Given the description of an element on the screen output the (x, y) to click on. 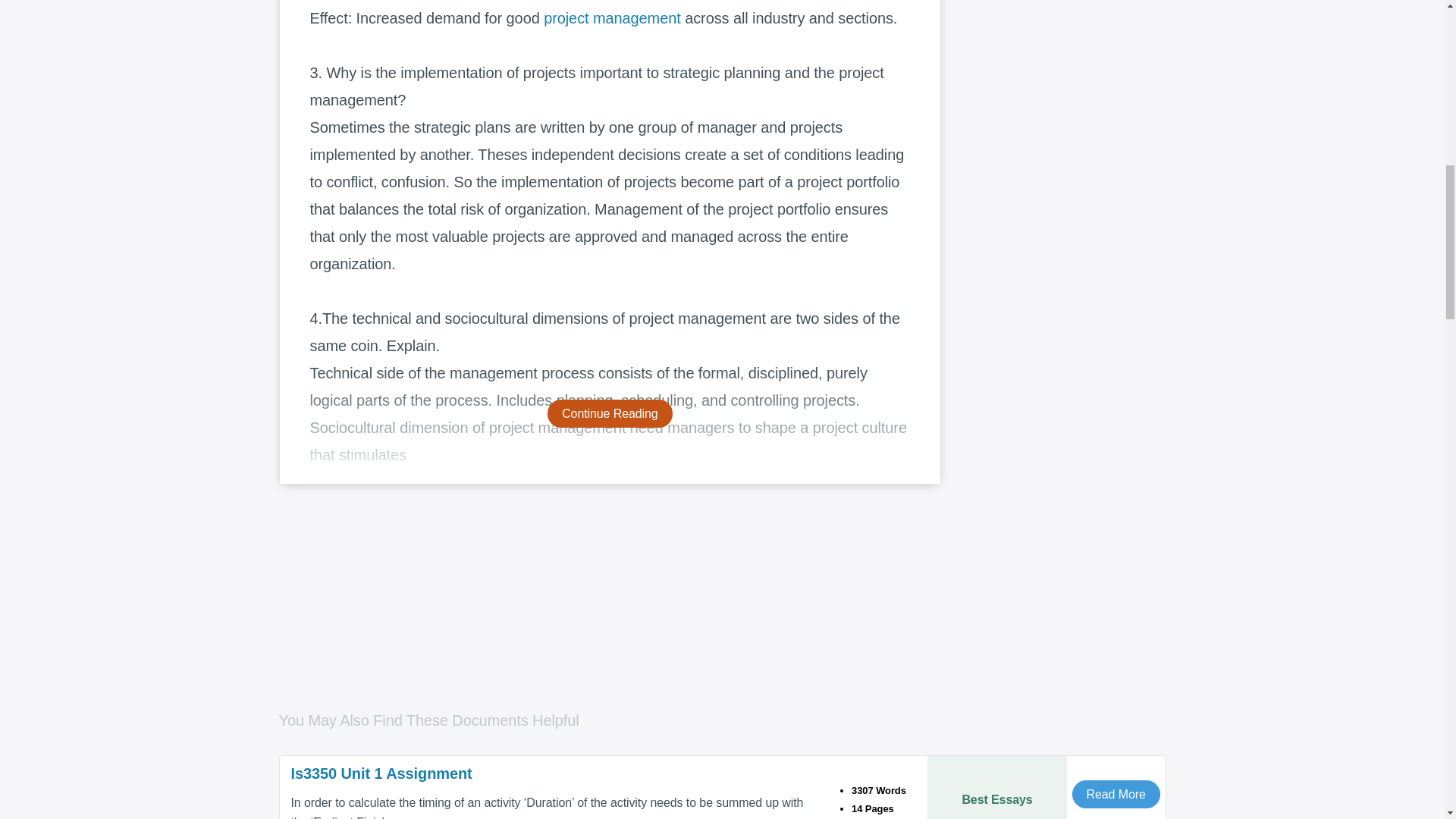
Read More (1115, 794)
Is3350 Unit 1 Assignment (553, 773)
Continue Reading (609, 413)
project management (612, 17)
